Given the description of an element on the screen output the (x, y) to click on. 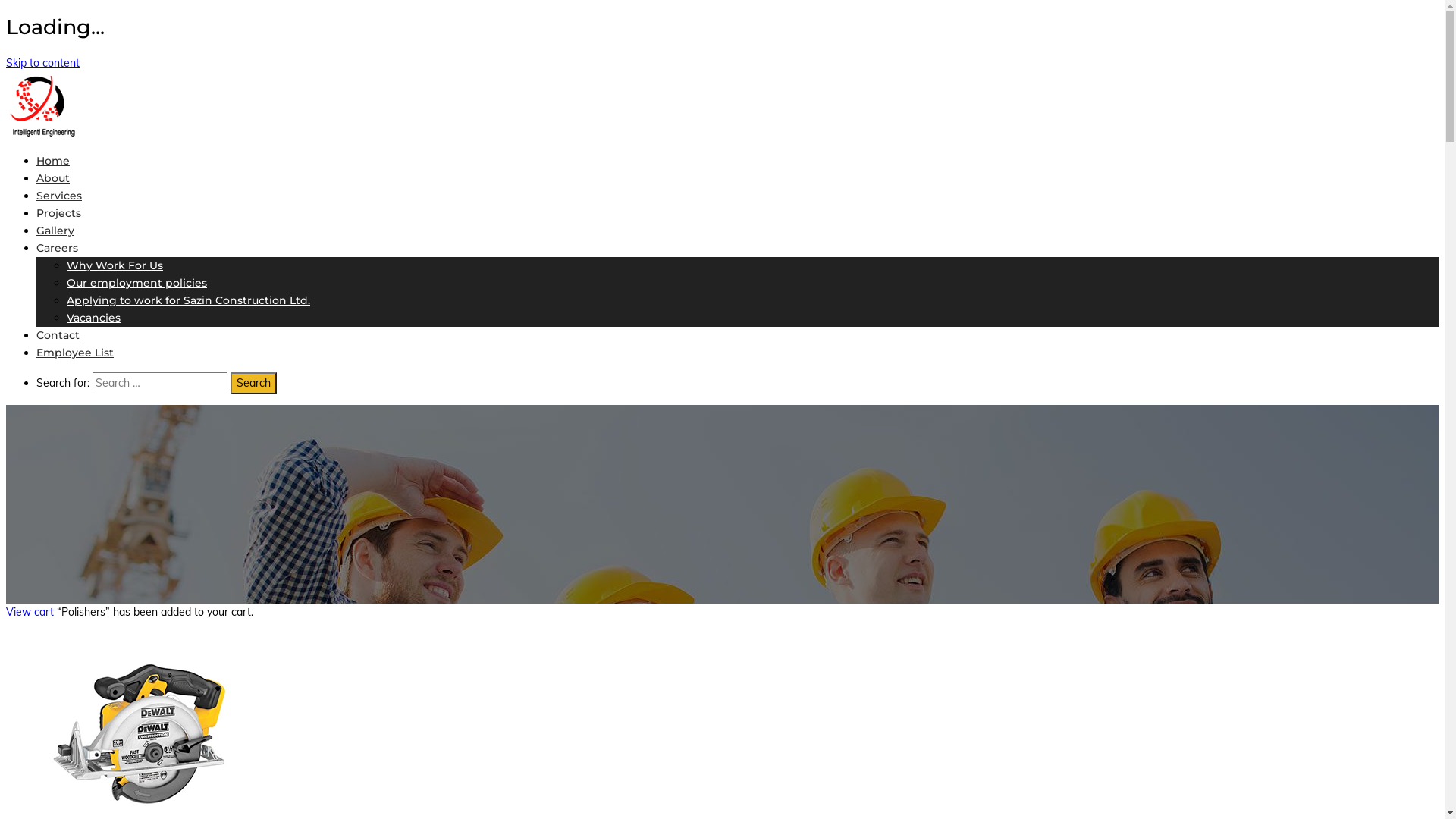
Gallery Element type: text (55, 230)
Sazin Construction Ltd. Element type: hover (41, 132)
Services Element type: text (58, 195)
View cart Element type: text (29, 611)
Vacancies Element type: text (93, 317)
Our employment policies Element type: text (136, 282)
Contact Element type: text (57, 335)
Projects Element type: text (58, 212)
Employee List Element type: text (74, 352)
Why Work For Us Element type: text (114, 265)
Home Element type: text (52, 160)
Skip to content Element type: text (42, 62)
Careers Element type: text (57, 247)
About Element type: text (52, 178)
Applying to work for Sazin Construction Ltd. Element type: text (188, 300)
Search Element type: text (253, 383)
